Given the description of an element on the screen output the (x, y) to click on. 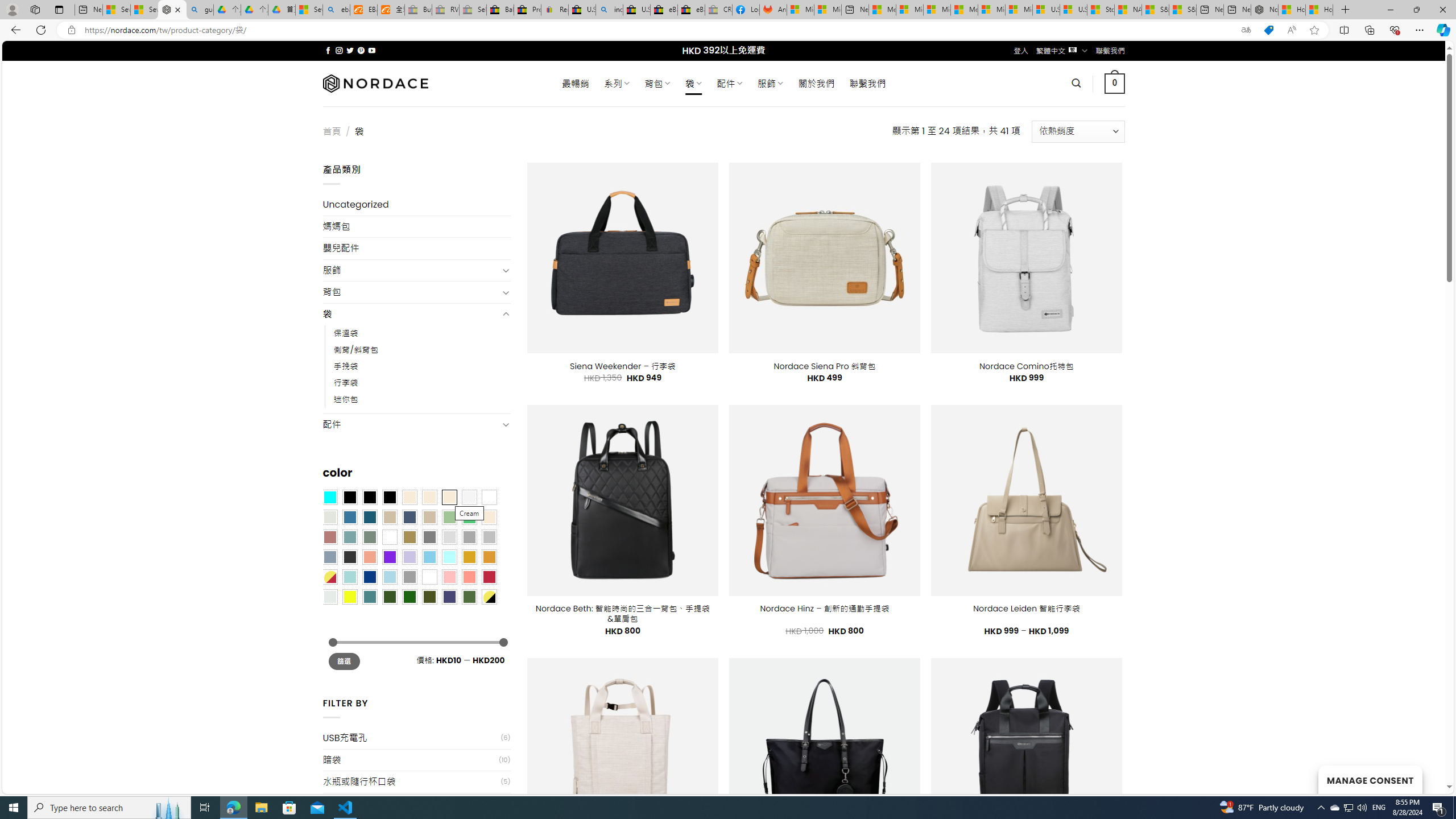
guge yunpan - Search (200, 9)
 0  (1115, 83)
Register: Create a personal eBay account (554, 9)
Follow on YouTube (371, 50)
Follow on Instagram (338, 50)
